Given the description of an element on the screen output the (x, y) to click on. 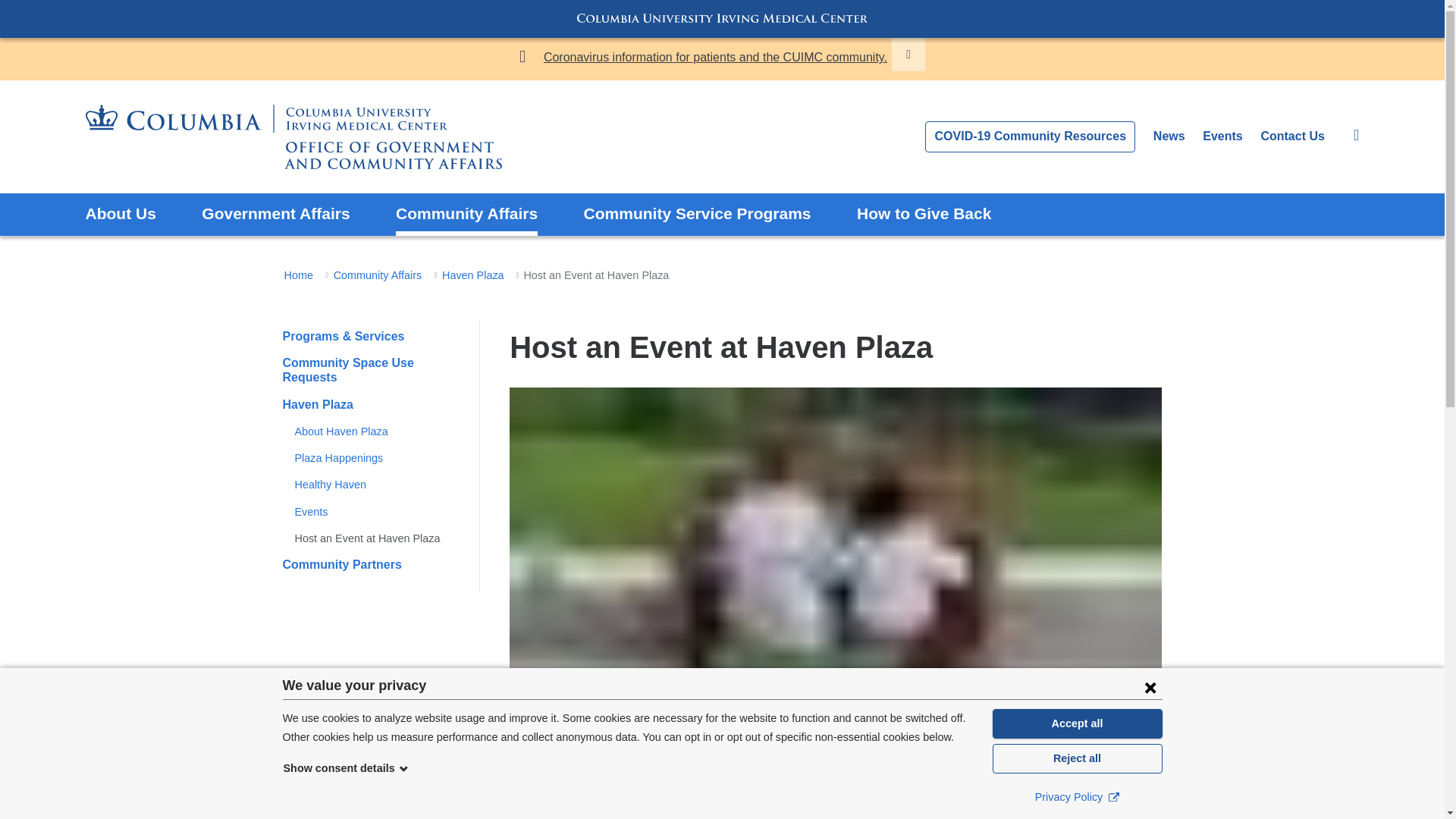
Haven Plaza (317, 404)
Community Service Programs (696, 214)
Accept all (1076, 723)
Host an Event at Haven Plaza (366, 538)
External link Opens in a new window (1113, 796)
News (1169, 135)
How to Give Back (924, 214)
Community Affairs (380, 275)
